Given the description of an element on the screen output the (x, y) to click on. 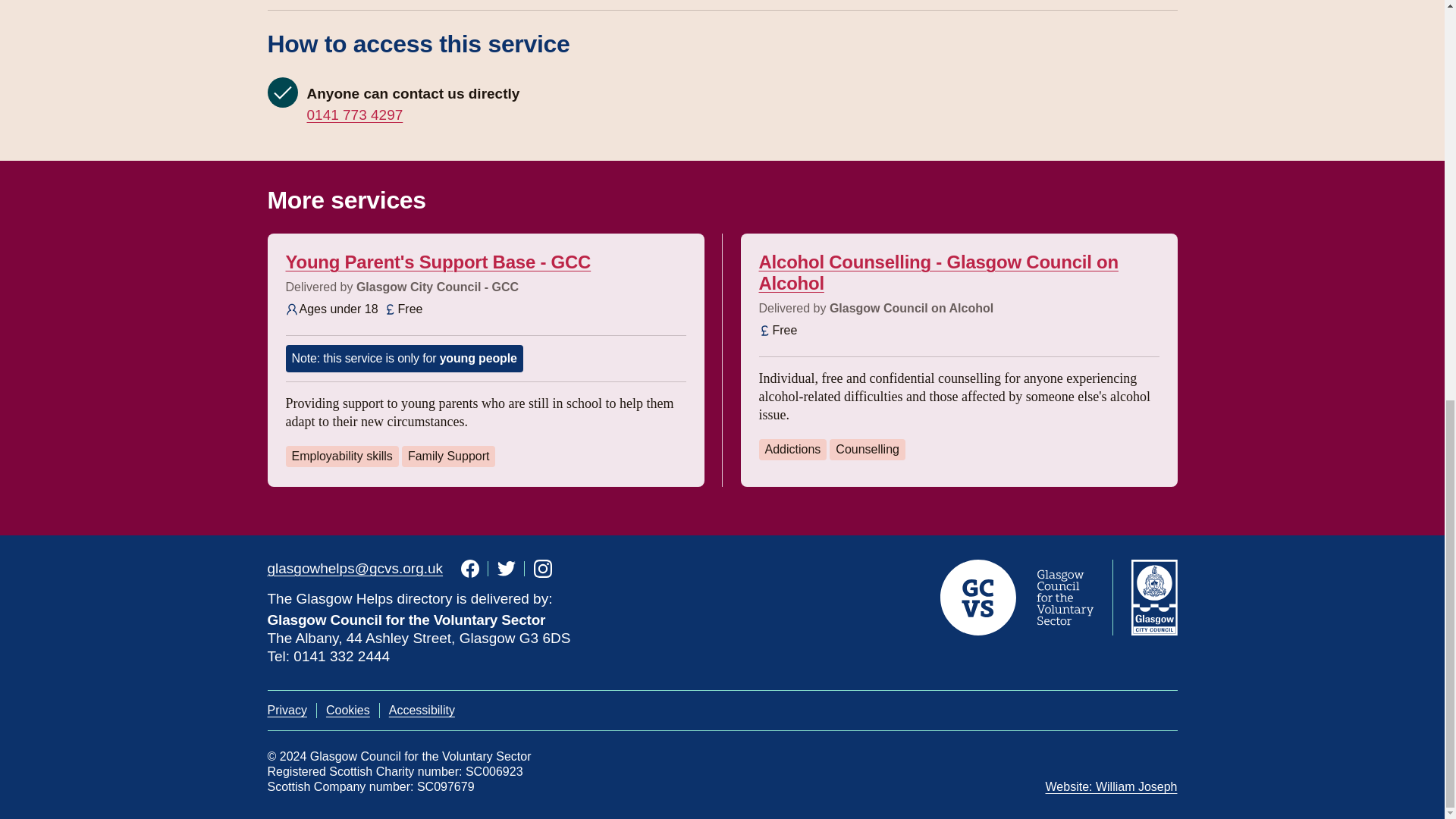
Alcohol Counselling - Glasgow Council on Alcohol (938, 272)
Cookies (347, 709)
Accessibility (421, 709)
Website: William Joseph (1111, 786)
Young Parent's Support Base - GCC (438, 261)
0141 773 4297 (354, 115)
Privacy (285, 709)
